Given the description of an element on the screen output the (x, y) to click on. 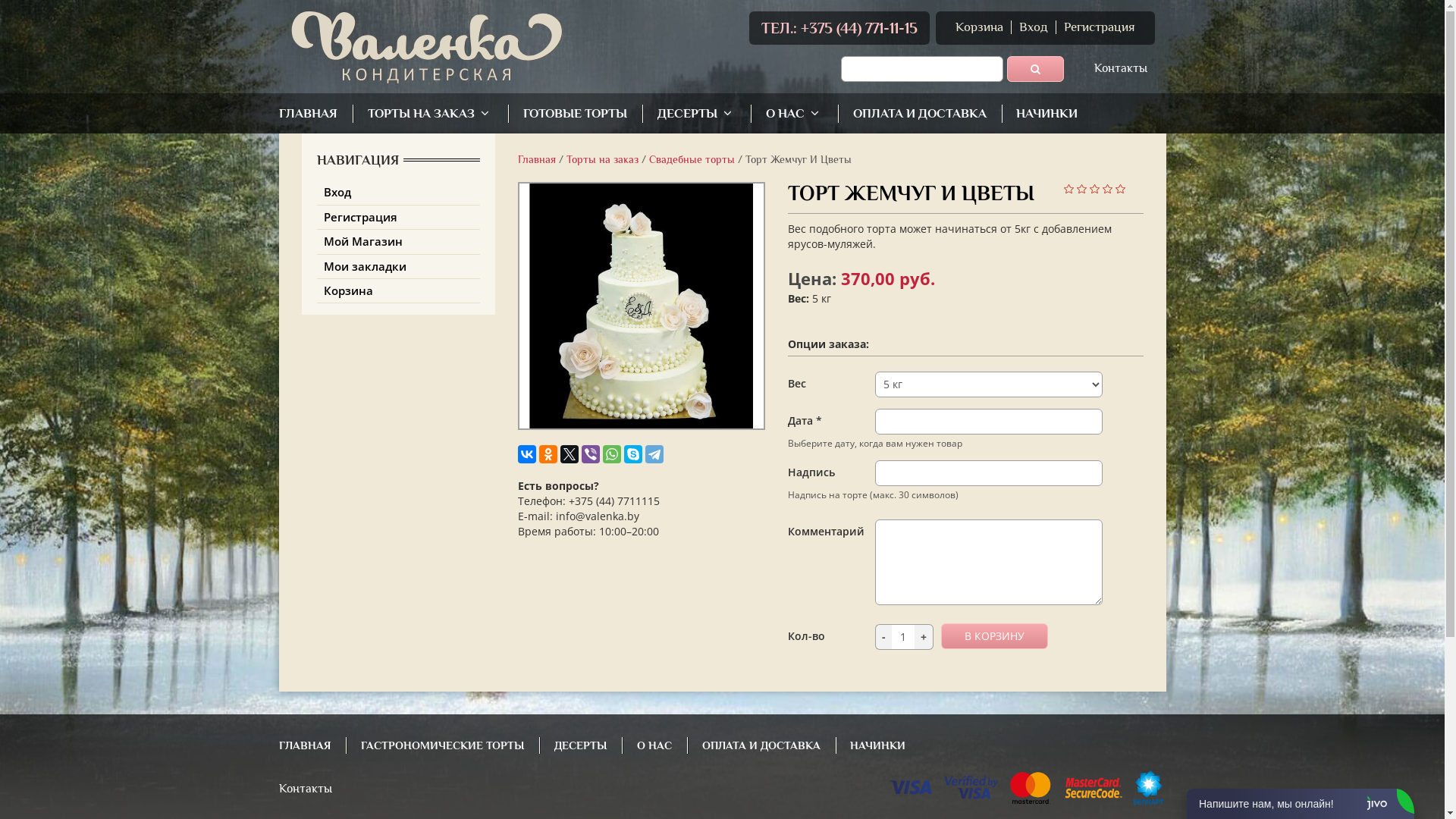
valenka.by Element type: hover (425, 47)
Viber Element type: hover (589, 454)
- Element type: text (883, 636)
Skype Element type: hover (632, 454)
<i class="fa fa-search"></i> Element type: text (1035, 68)
+ Element type: text (923, 636)
Twitter Element type: hover (568, 454)
WhatsApp Element type: hover (611, 454)
Telegram Element type: hover (653, 454)
